Given the description of an element on the screen output the (x, y) to click on. 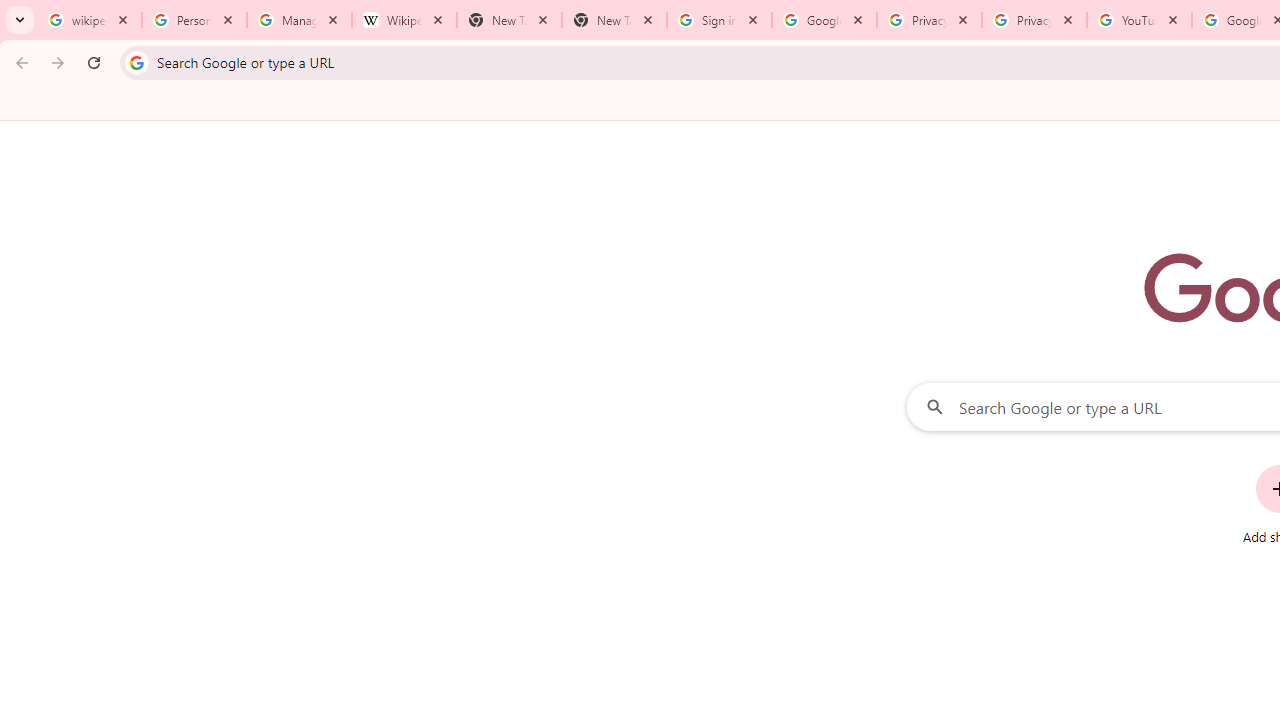
Sign in - Google Accounts (718, 20)
Wikipedia:Edit requests - Wikipedia (404, 20)
Google Drive: Sign-in (823, 20)
Personalization & Google Search results - Google Search Help (194, 20)
YouTube (1138, 20)
